Given the description of an element on the screen output the (x, y) to click on. 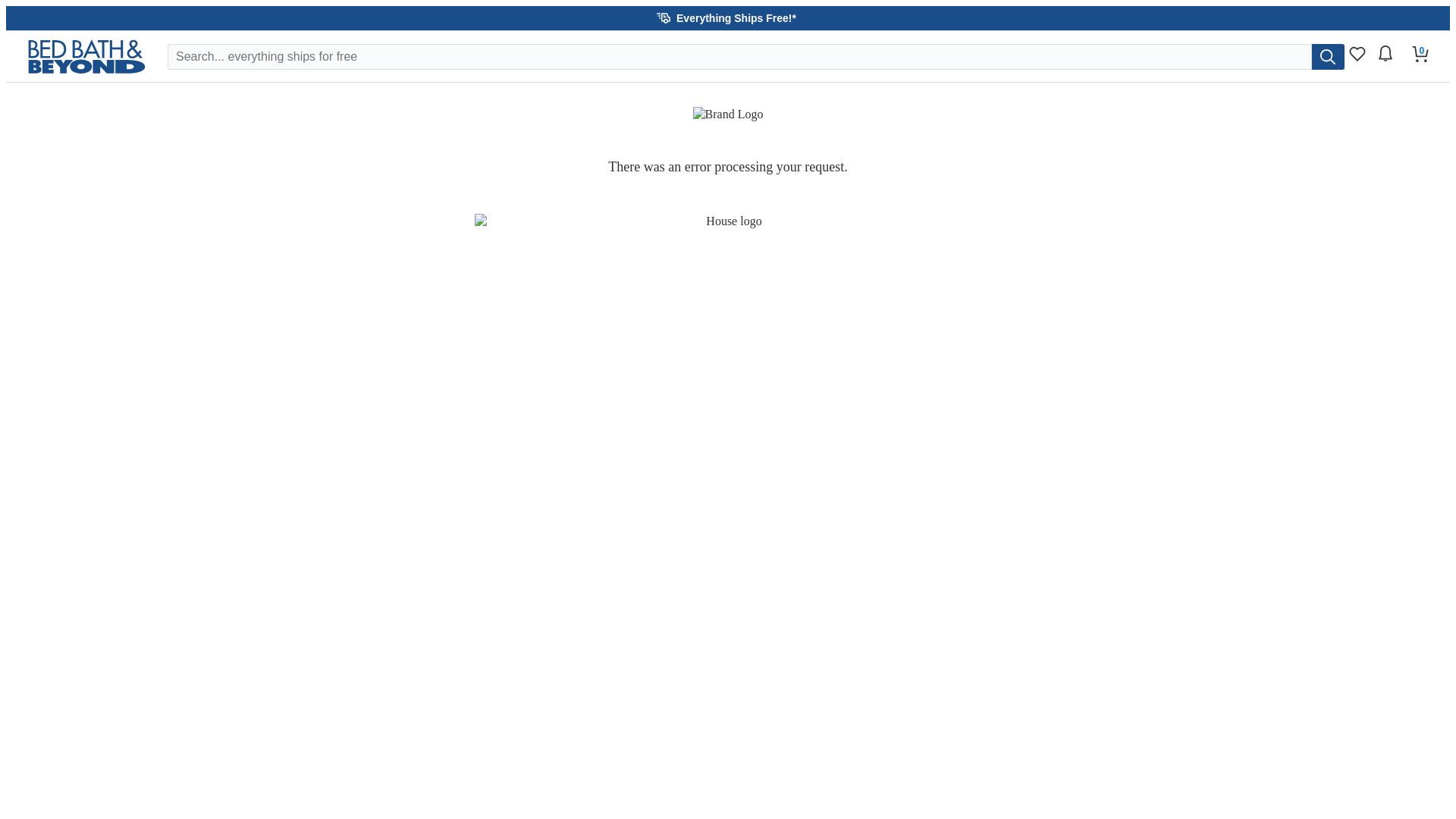
Heart (1357, 53)
Bell (1385, 53)
Cart Empty (1420, 53)
Heart (1357, 57)
